Given the description of an element on the screen output the (x, y) to click on. 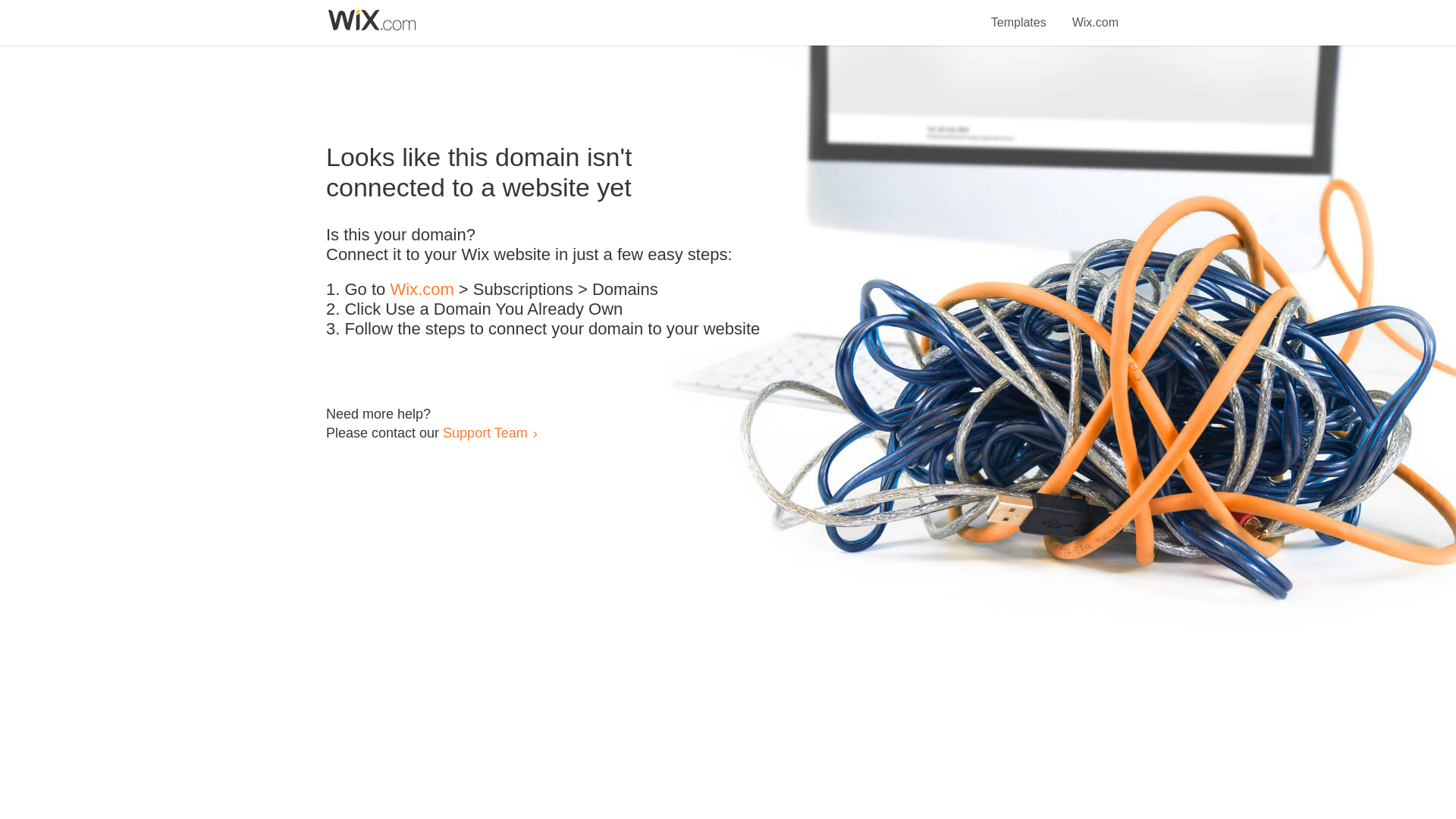
Support Team (484, 432)
Wix.com (421, 289)
Templates (1018, 14)
Wix.com (1095, 14)
